Given the description of an element on the screen output the (x, y) to click on. 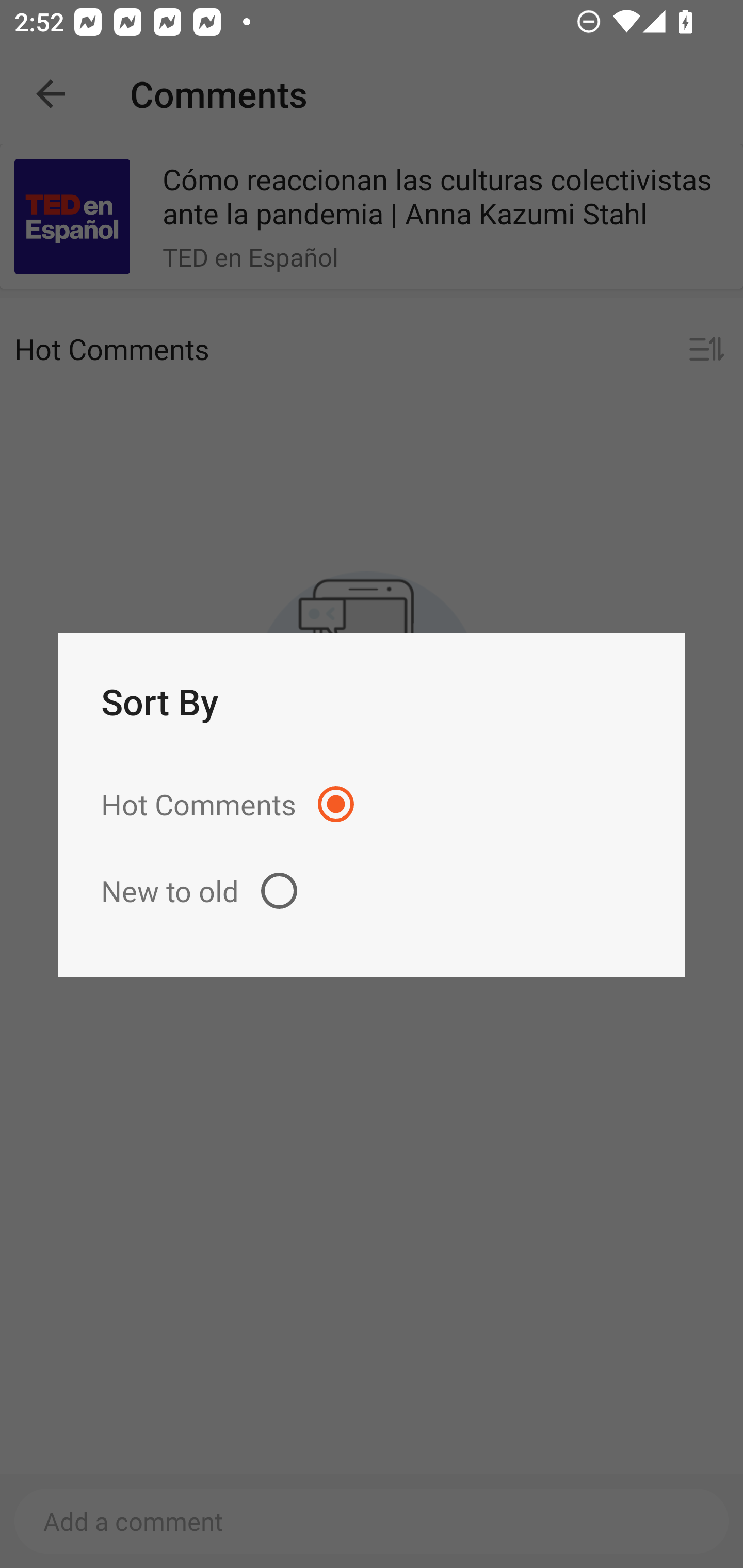
Hot Comments (371, 803)
New to old (371, 890)
